Given the description of an element on the screen output the (x, y) to click on. 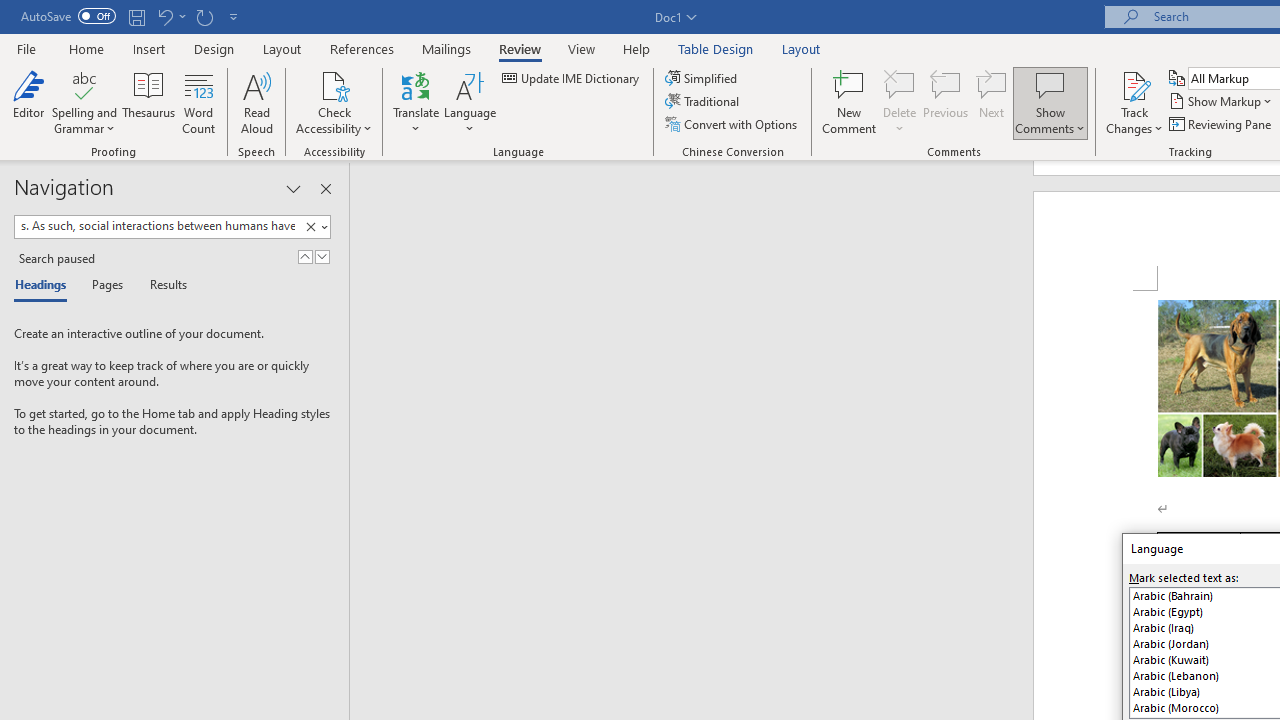
Check Accessibility (334, 102)
Delete (900, 102)
Track Changes (1134, 102)
Undo Style (164, 15)
Show Markup (1222, 101)
Spelling and Grammar (84, 102)
Update IME Dictionary... (572, 78)
Reviewing Pane (1221, 124)
